Given the description of an element on the screen output the (x, y) to click on. 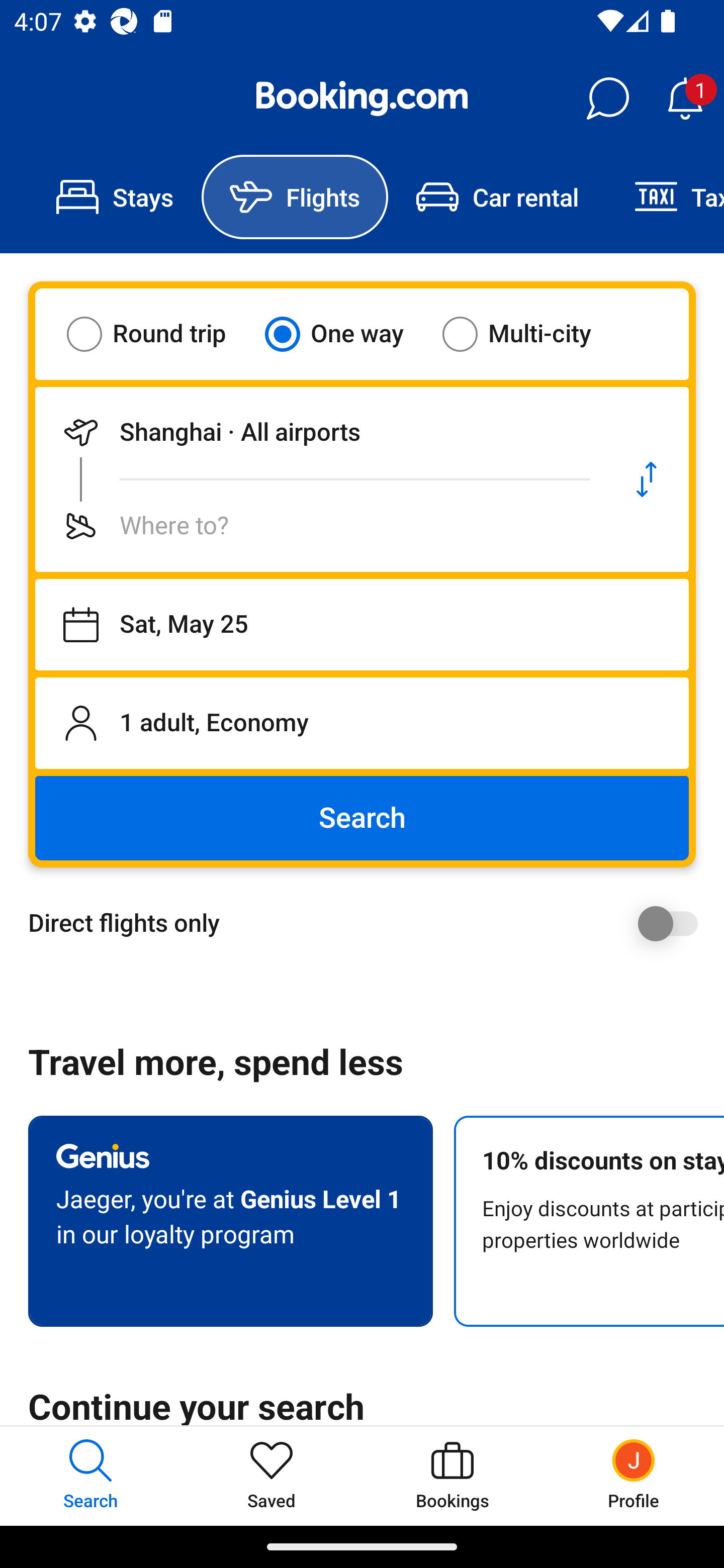
Messages (607, 98)
Notifications (685, 98)
Stays (114, 197)
Flights (294, 197)
Car rental (497, 197)
Taxi (665, 197)
Round trip (158, 333)
Multi-city (528, 333)
Departing from Shanghai · All airports (319, 432)
Swap departure location and destination (646, 479)
Flying to  (319, 525)
Departing on Sat, May 25 (361, 624)
1 adult, Economy (361, 722)
Search (361, 818)
Direct flights only (369, 923)
Saved (271, 1475)
Bookings (452, 1475)
Profile (633, 1475)
